Given the description of an element on the screen output the (x, y) to click on. 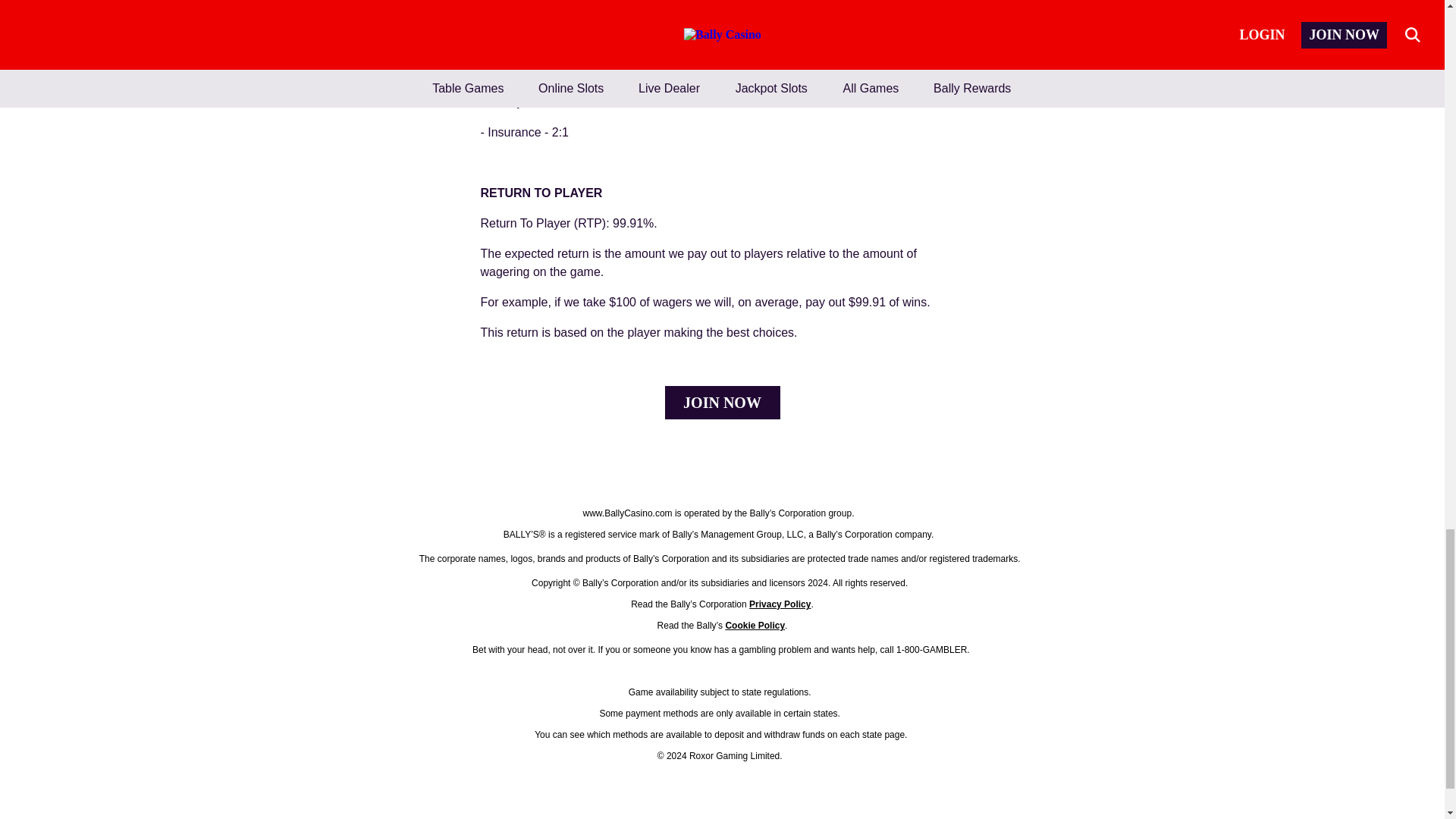
JOIN NOW (720, 402)
Join Now (720, 402)
Privacy Policy (779, 604)
Cookie Policy (754, 625)
